Given the description of an element on the screen output the (x, y) to click on. 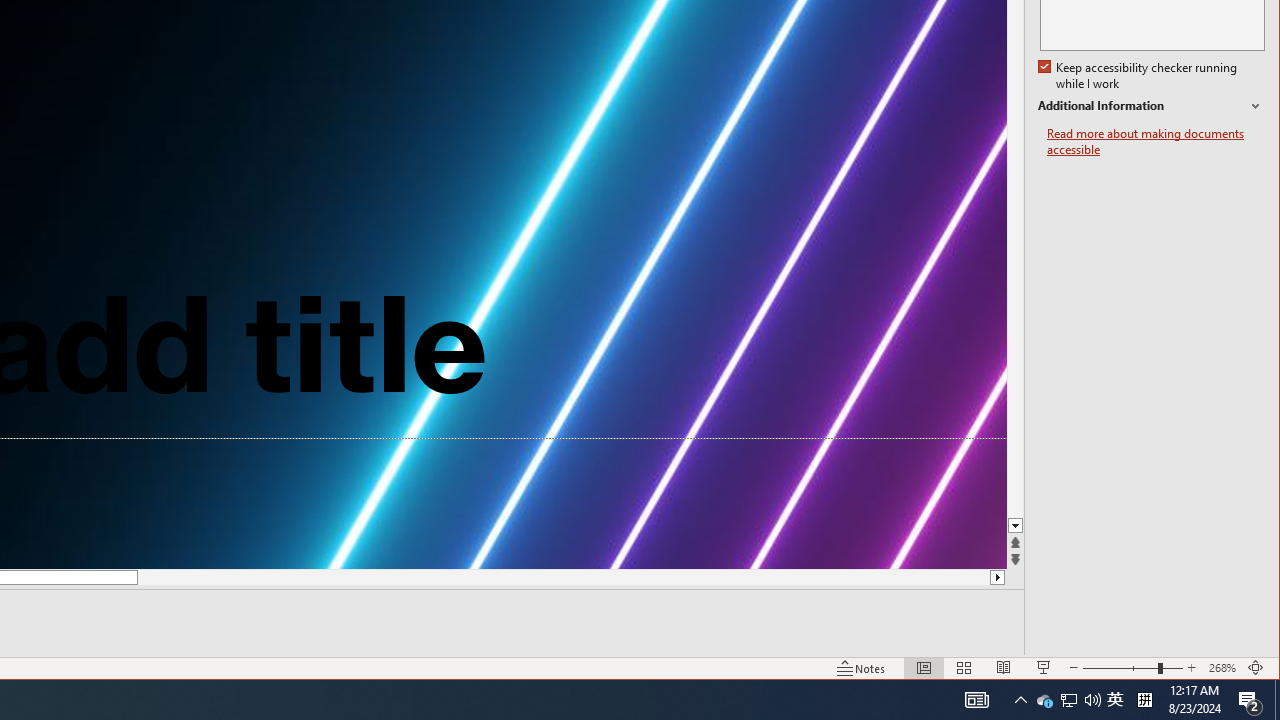
Zoom 268% (1222, 668)
